Given the description of an element on the screen output the (x, y) to click on. 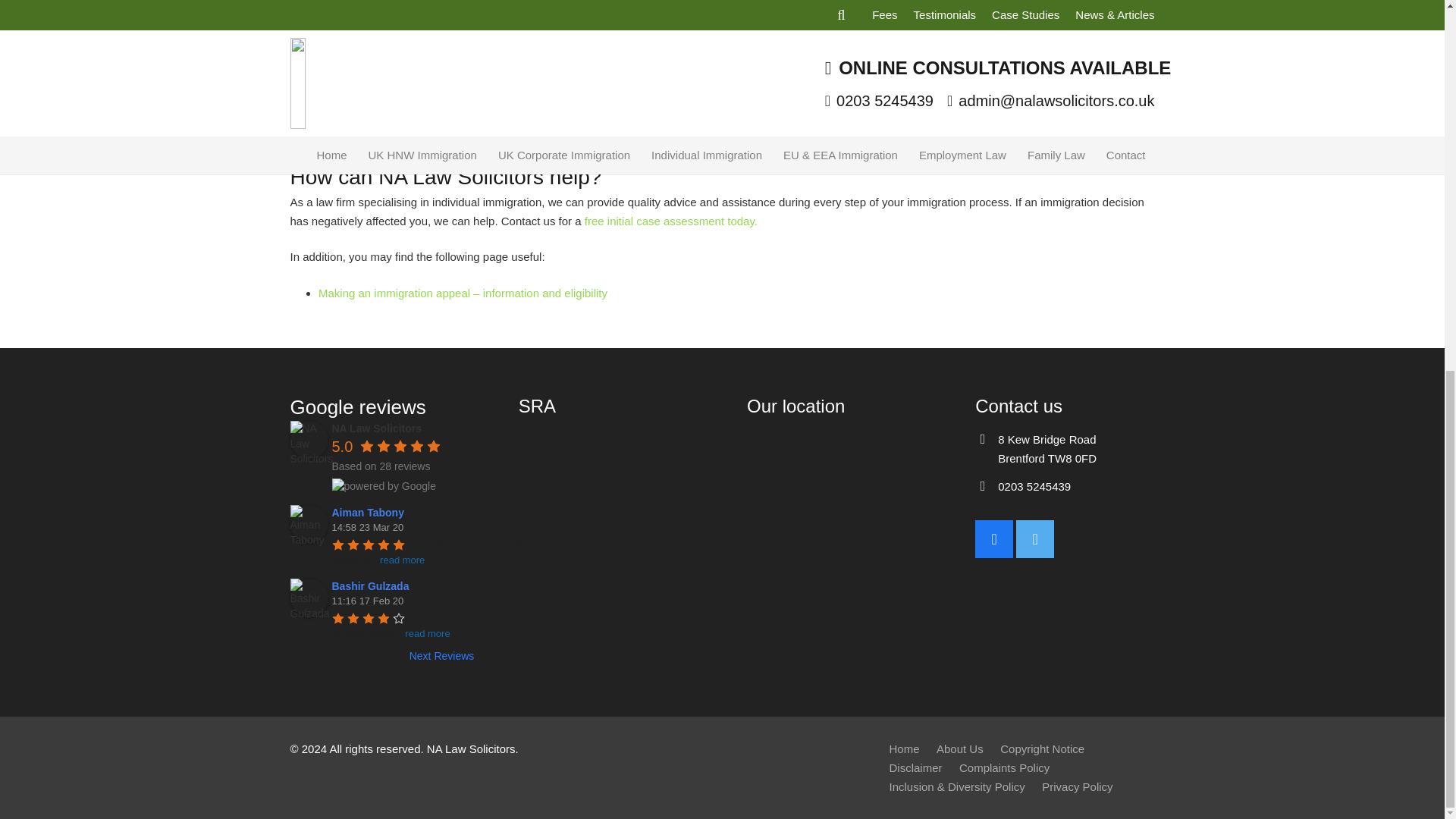
NA Law Solicitors (308, 439)
powered by Google (383, 485)
Bashir Gulzada (308, 597)
Aiman Tabony (308, 523)
